Given the description of an element on the screen output the (x, y) to click on. 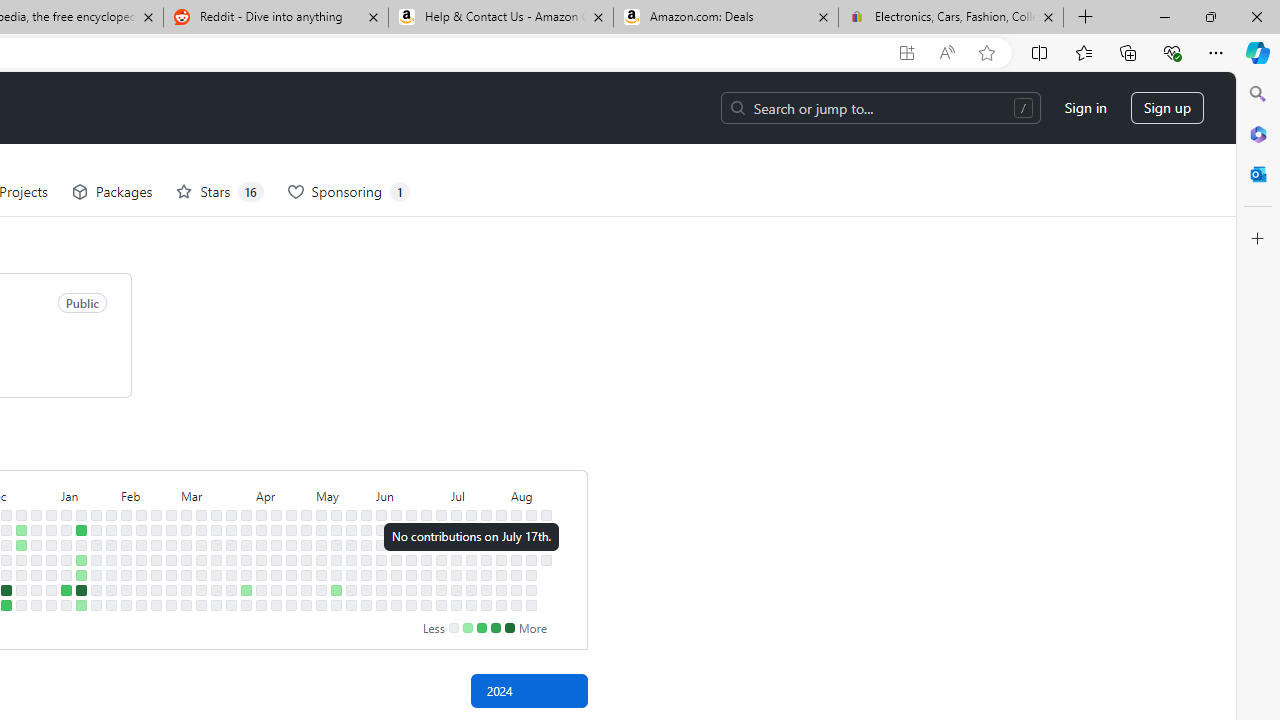
No contributions on February 13th. (141, 544)
No contributions on May 14th. (336, 544)
No contributions on December 21st. (20, 574)
No contributions on January 24th. (96, 559)
No contributions on June 10th. (395, 529)
No contributions on June 6th. (381, 574)
No contributions on January 26th. (96, 589)
No contributions on December 31st. (51, 515)
No contributions on February 7th. (126, 559)
No contributions on July 28th. (501, 515)
No contributions on May 18th. (336, 605)
No contributions on June 17th. (411, 529)
No contributions on August 4th. (516, 515)
No contributions on March 6th. (186, 559)
